Given the description of an element on the screen output the (x, y) to click on. 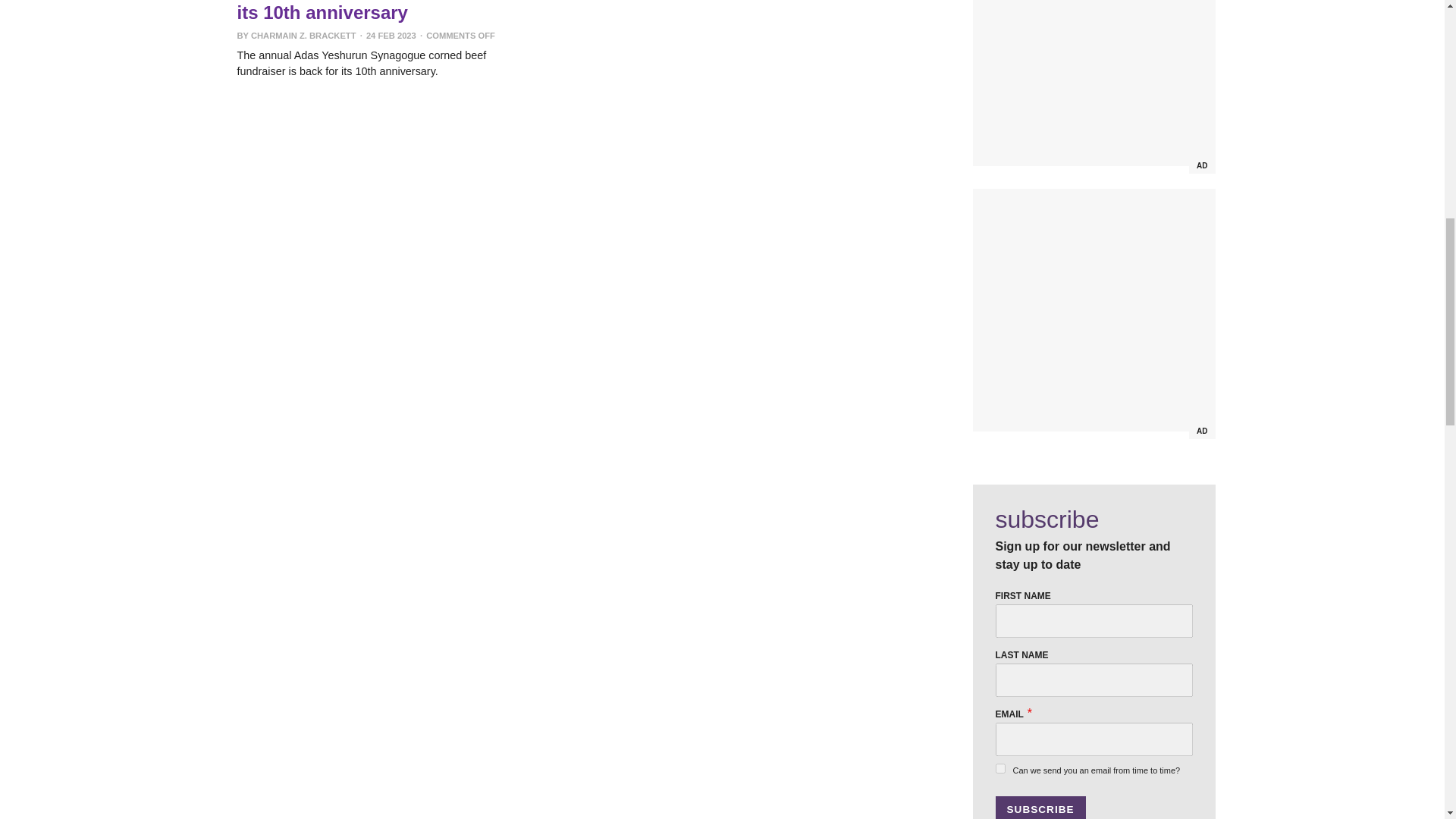
Corned beef fundraiser celebrates its 10th anniversary (383, 11)
on (999, 768)
Corned beef fundraiser celebrates its 10th anniversary (383, 11)
CHARMAIN Z. BRACKETT (303, 35)
SUBSCRIBE (1039, 807)
